Given the description of an element on the screen output the (x, y) to click on. 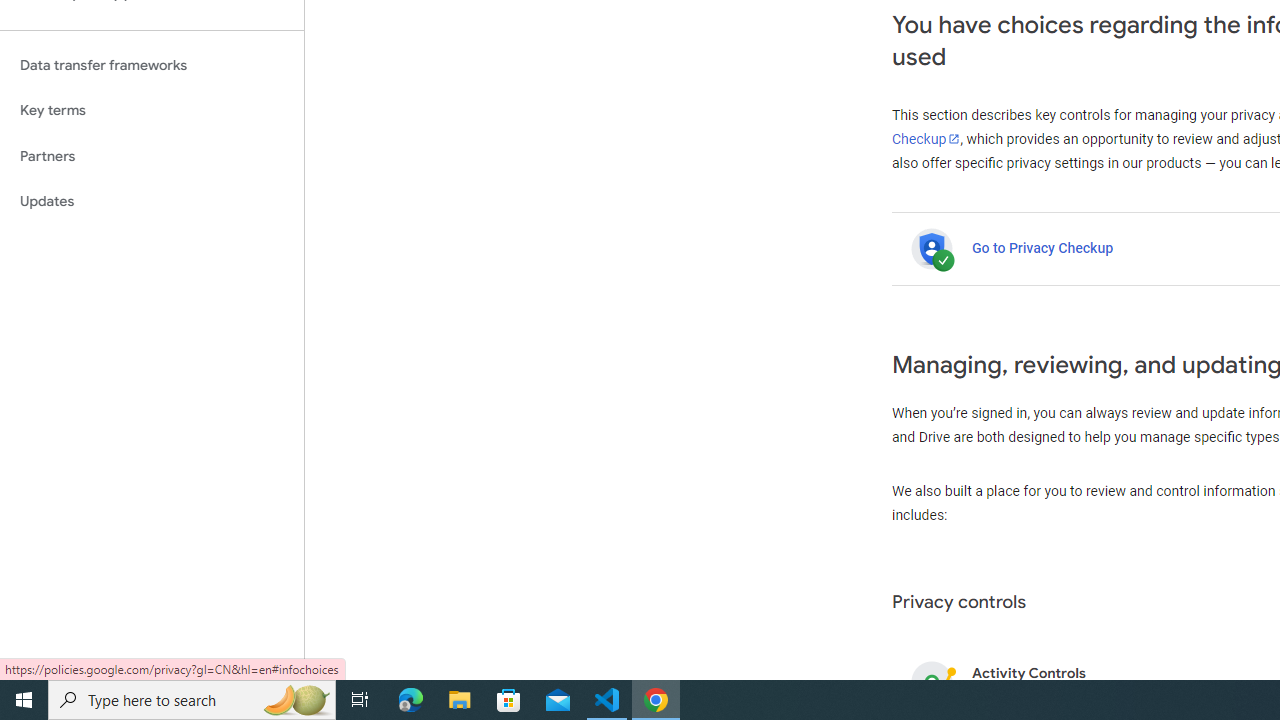
Partners (152, 156)
Data transfer frameworks (152, 65)
Go to Privacy Checkup (1042, 248)
Key terms (152, 110)
